Given the description of an element on the screen output the (x, y) to click on. 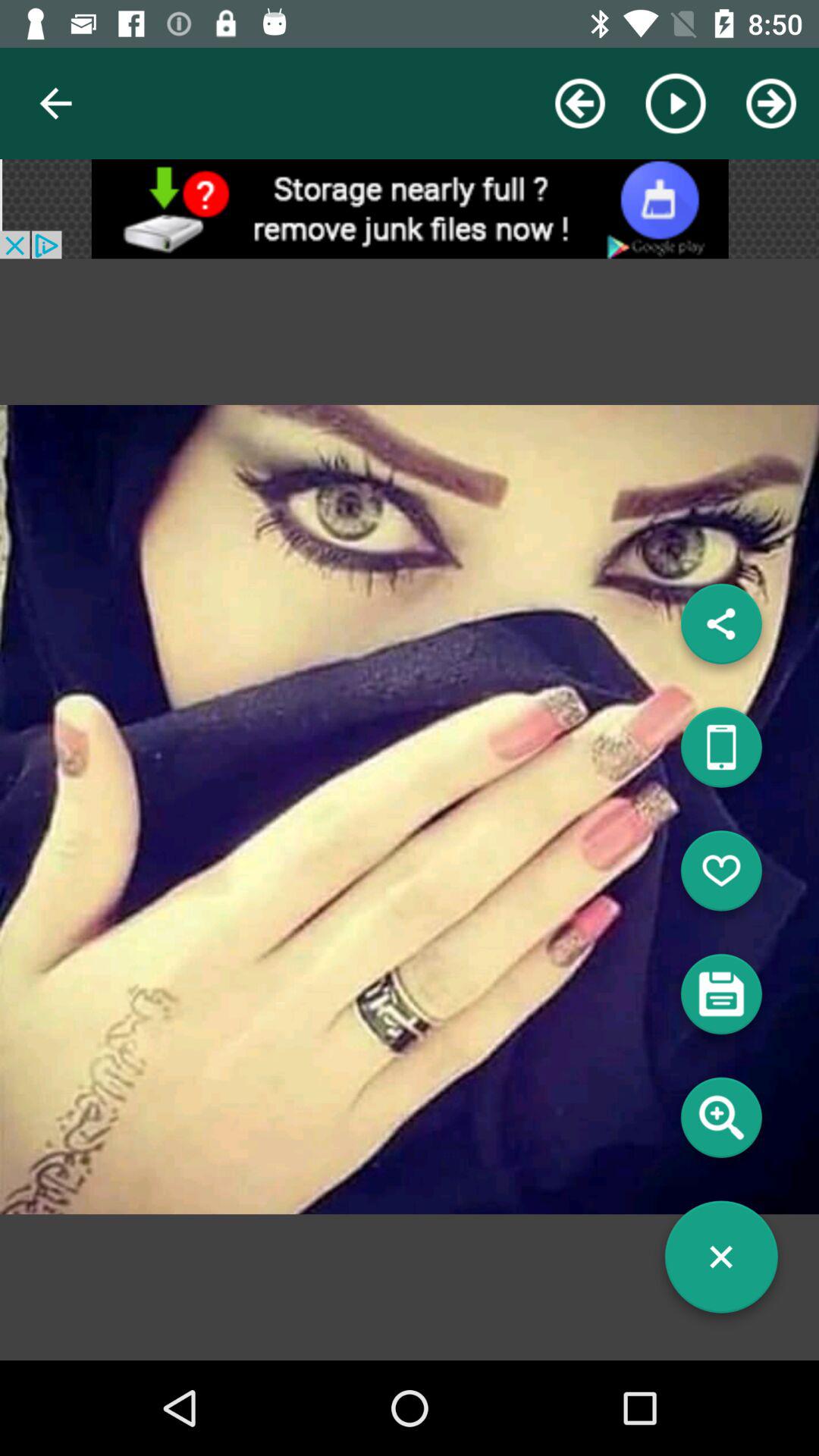
search info (721, 1123)
